Given the description of an element on the screen output the (x, y) to click on. 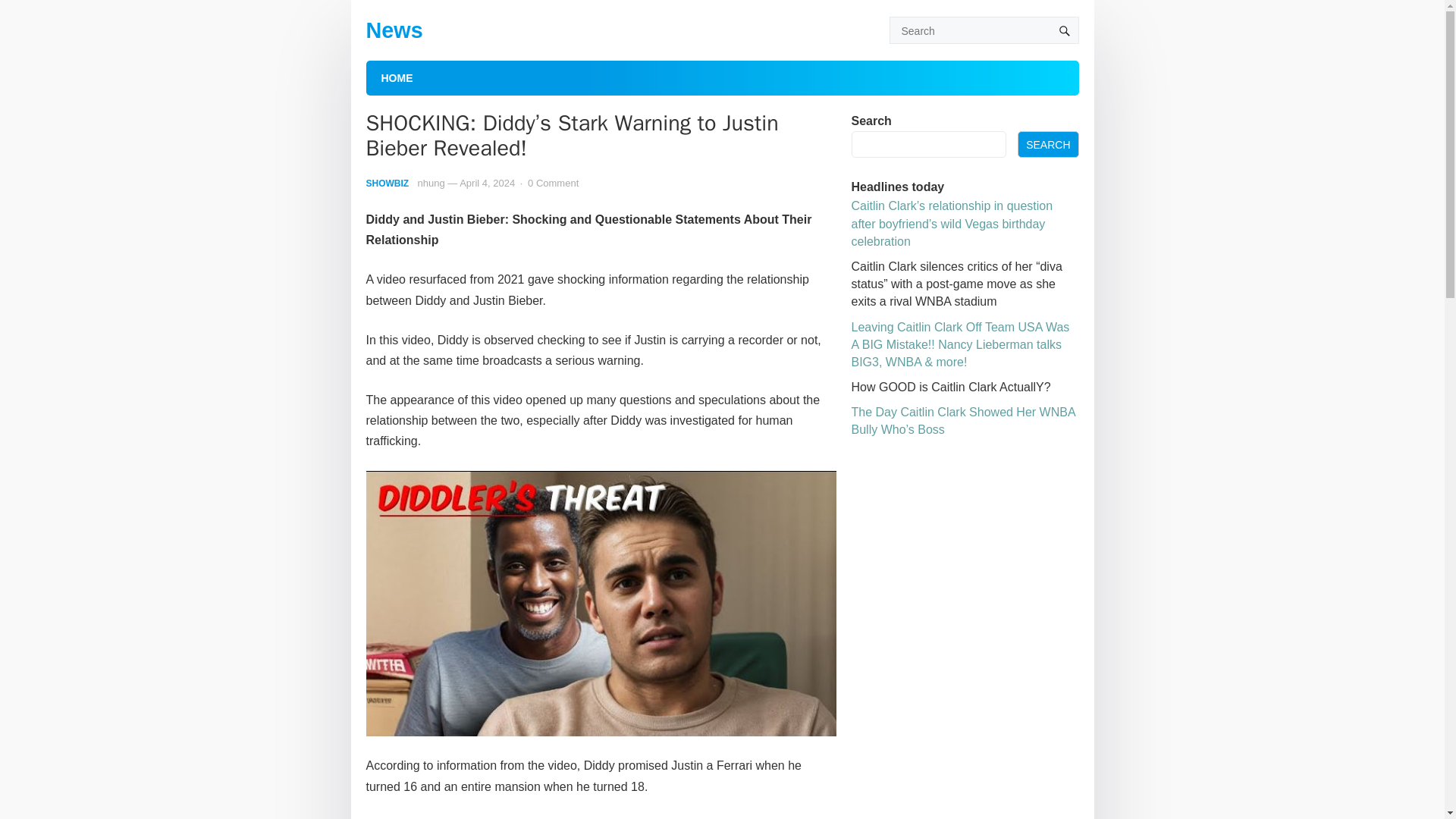
Posts by nhung (431, 183)
How GOOD is Caitlin Clark ActuallY? (949, 386)
SEARCH (1047, 144)
News (393, 30)
nhung (431, 183)
HOME (396, 77)
SHOWBIZ (387, 183)
0 Comment (552, 183)
